Given the description of an element on the screen output the (x, y) to click on. 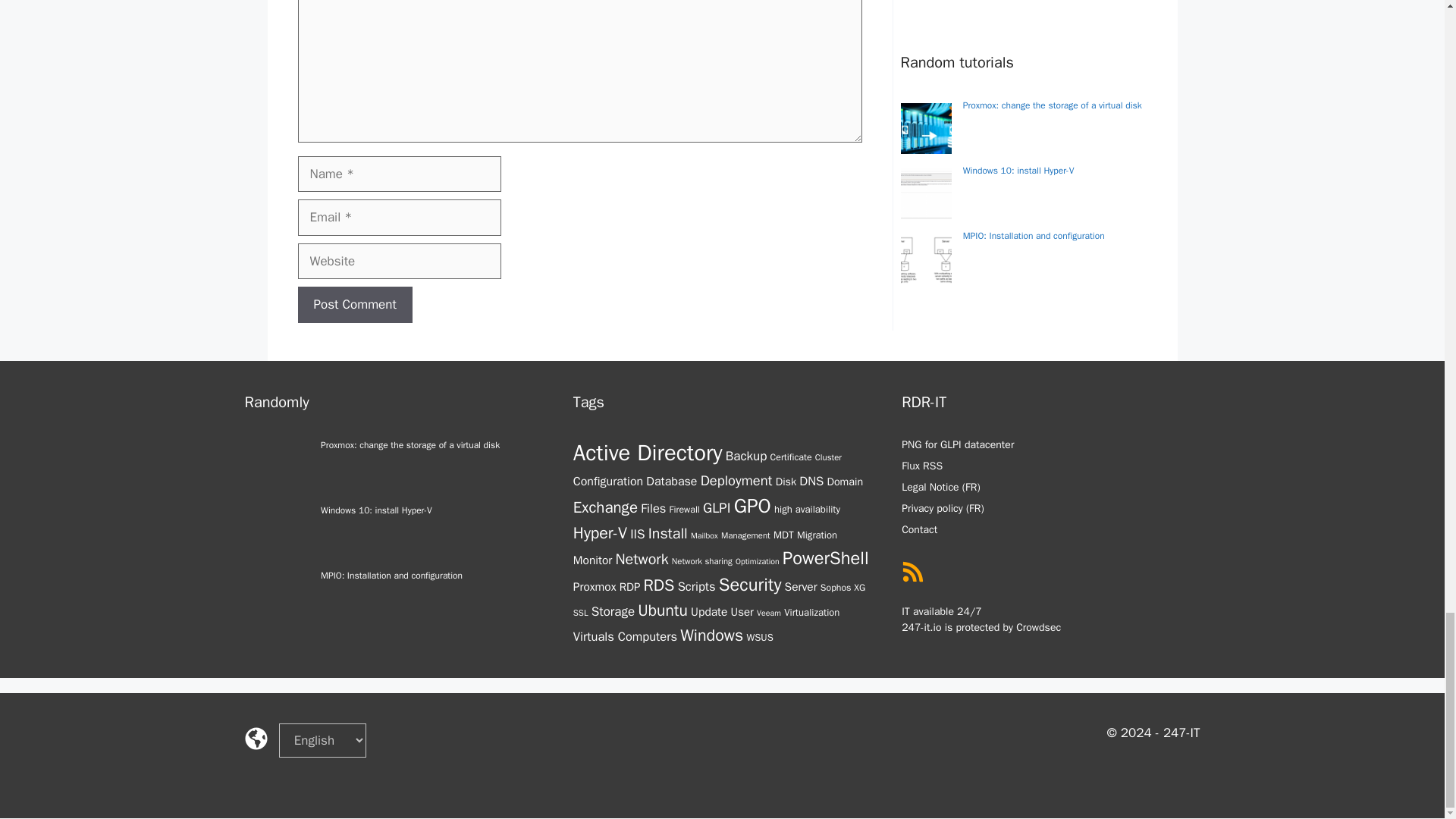
Post Comment (354, 304)
